Given the description of an element on the screen output the (x, y) to click on. 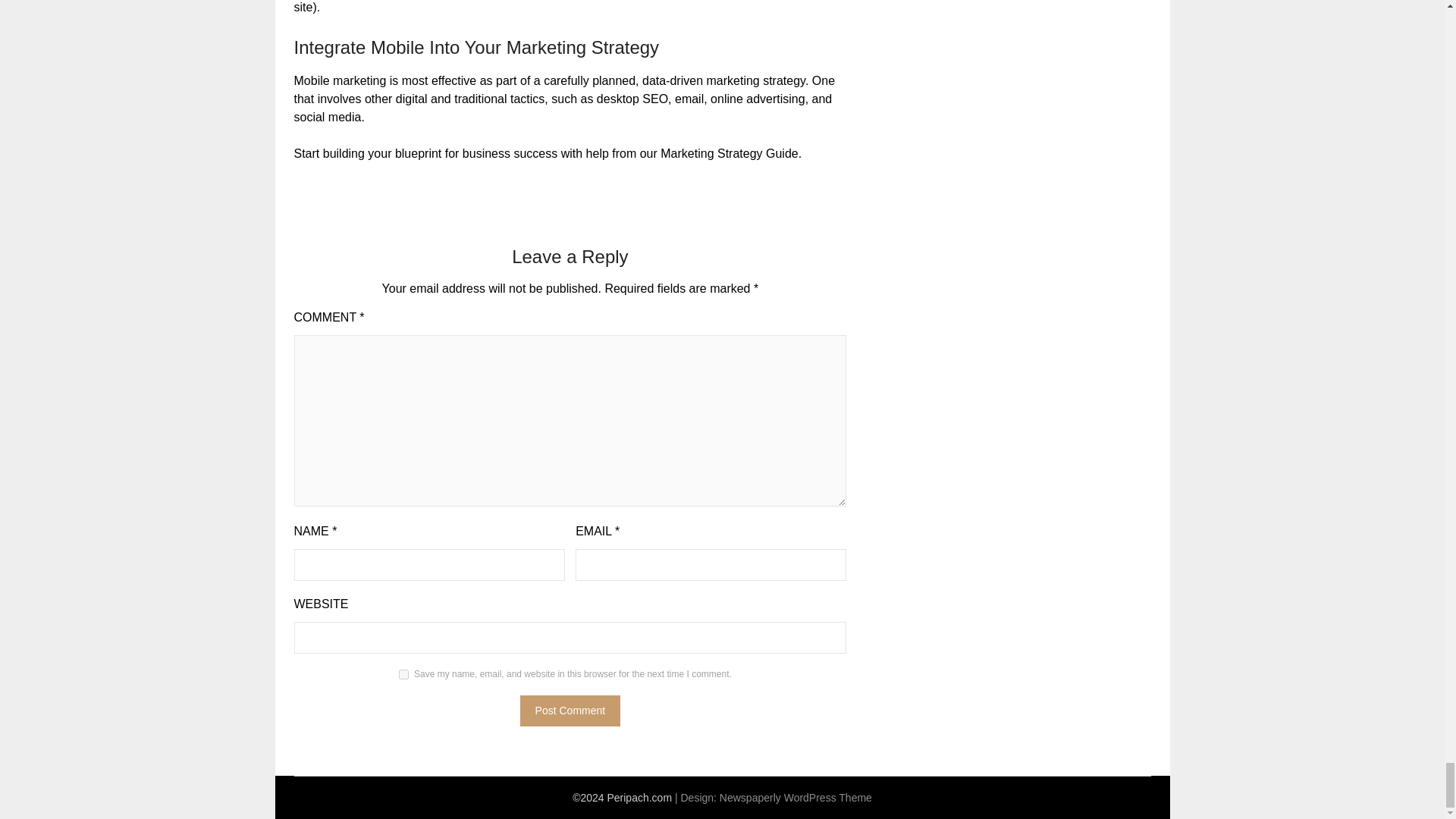
yes (403, 674)
Post Comment (570, 710)
